Given the description of an element on the screen output the (x, y) to click on. 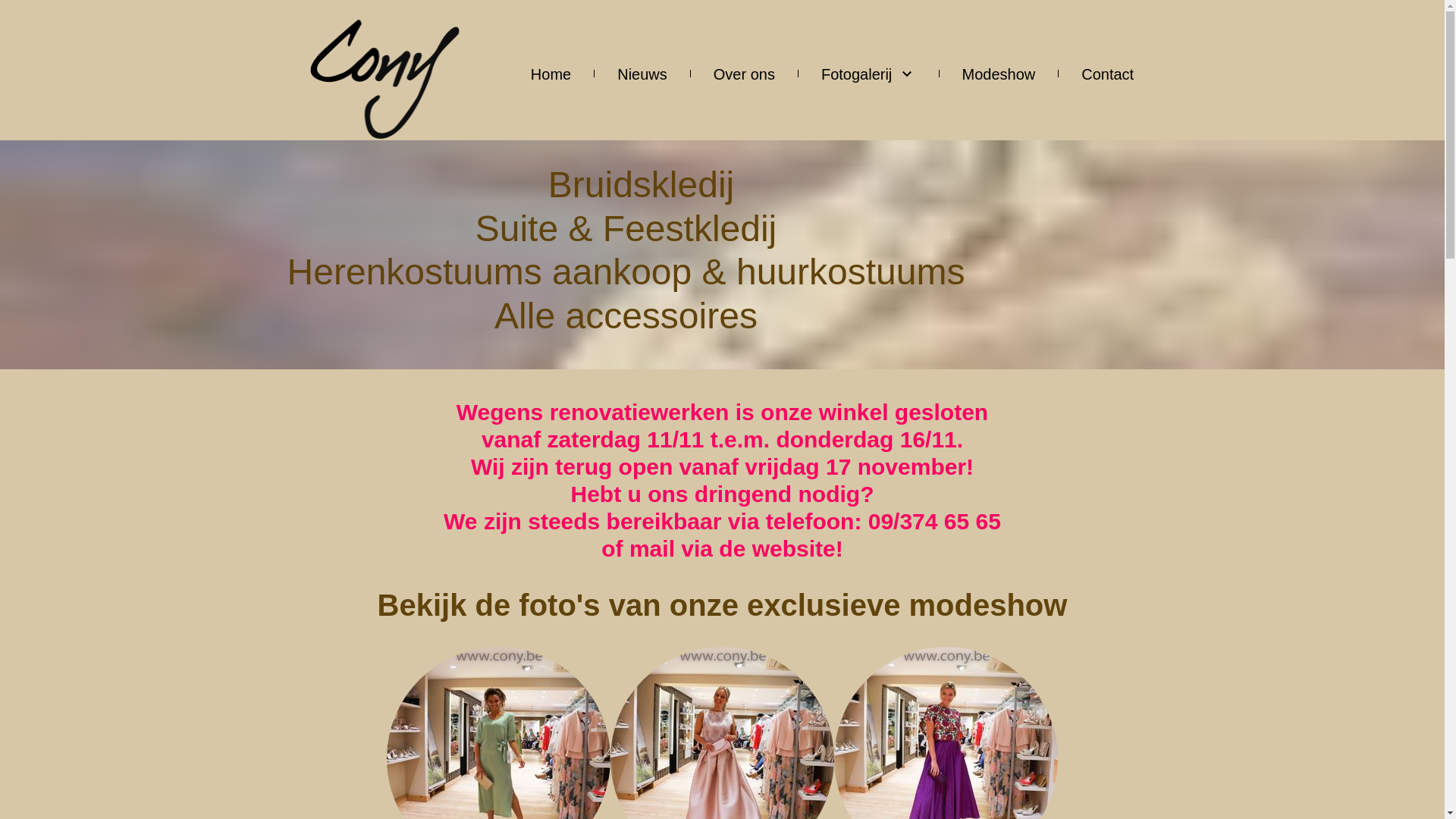
Fotogalerij Element type: text (868, 72)
Nieuws Element type: text (642, 72)
Contact Element type: text (1107, 72)
Over ons Element type: text (743, 72)
Home Element type: text (550, 72)
Modeshow Element type: text (997, 72)
